Given the description of an element on the screen output the (x, y) to click on. 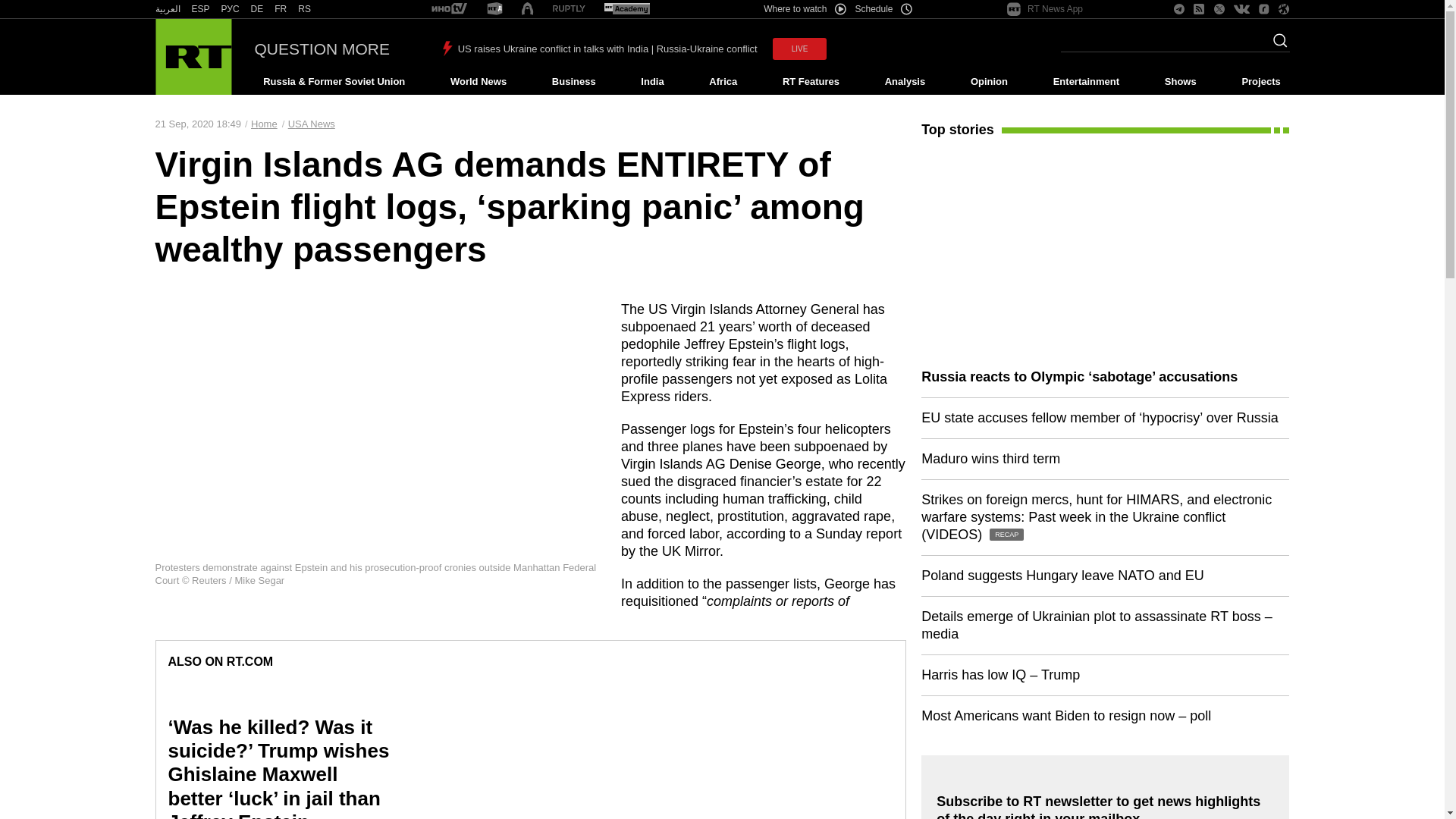
India (651, 81)
RT  (448, 9)
RT  (230, 9)
QUESTION MORE (322, 48)
World News (478, 81)
Search (1276, 44)
RT  (494, 9)
FR (280, 9)
Africa (722, 81)
Search (1276, 44)
Schedule (884, 9)
RT News App (1045, 9)
RT  (626, 9)
Shows (1180, 81)
Opinion (988, 81)
